Given the description of an element on the screen output the (x, y) to click on. 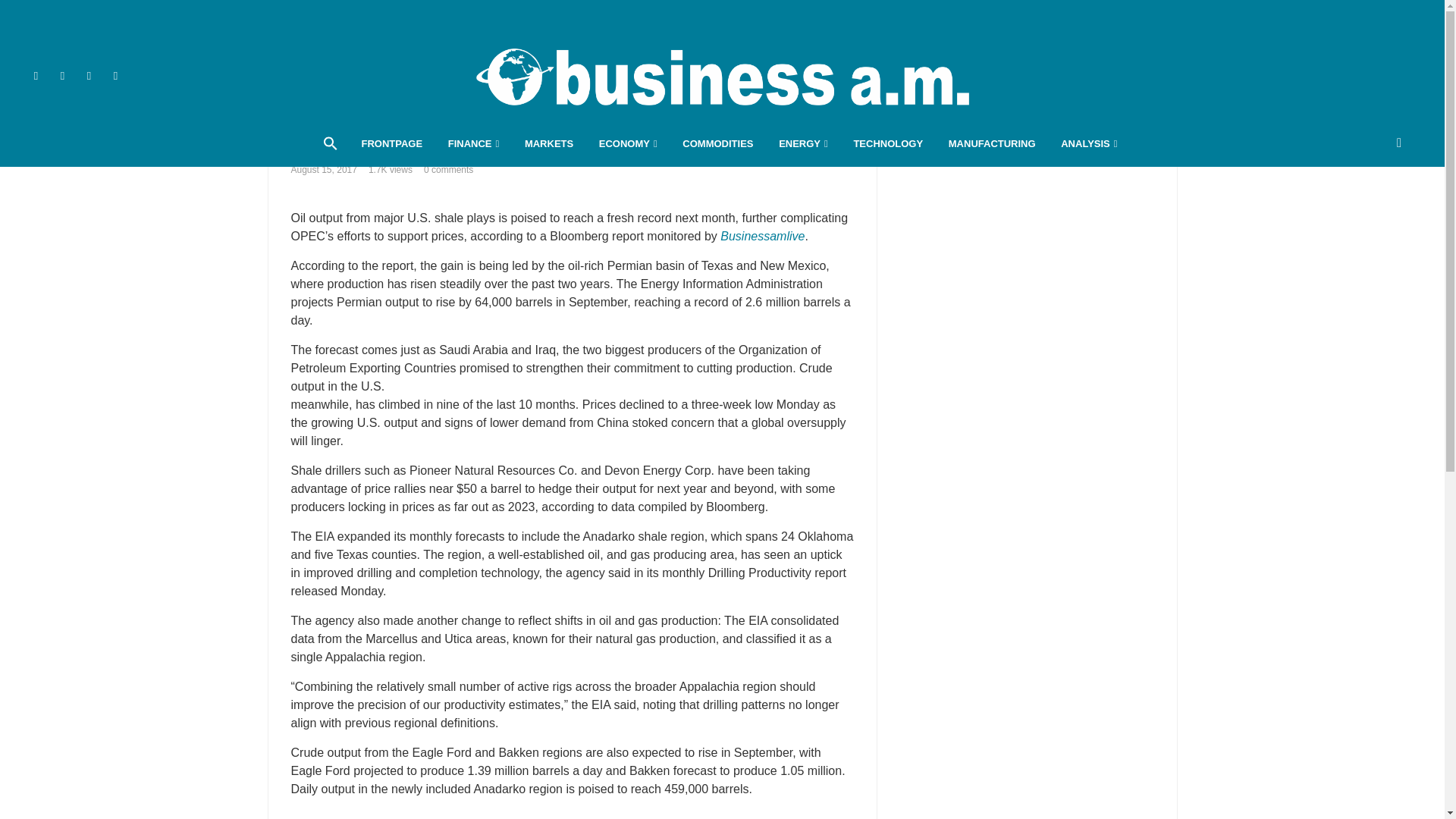
FRONTPAGE (391, 144)
FINANCE (473, 144)
Businessamlive (722, 76)
